Given the description of an element on the screen output the (x, y) to click on. 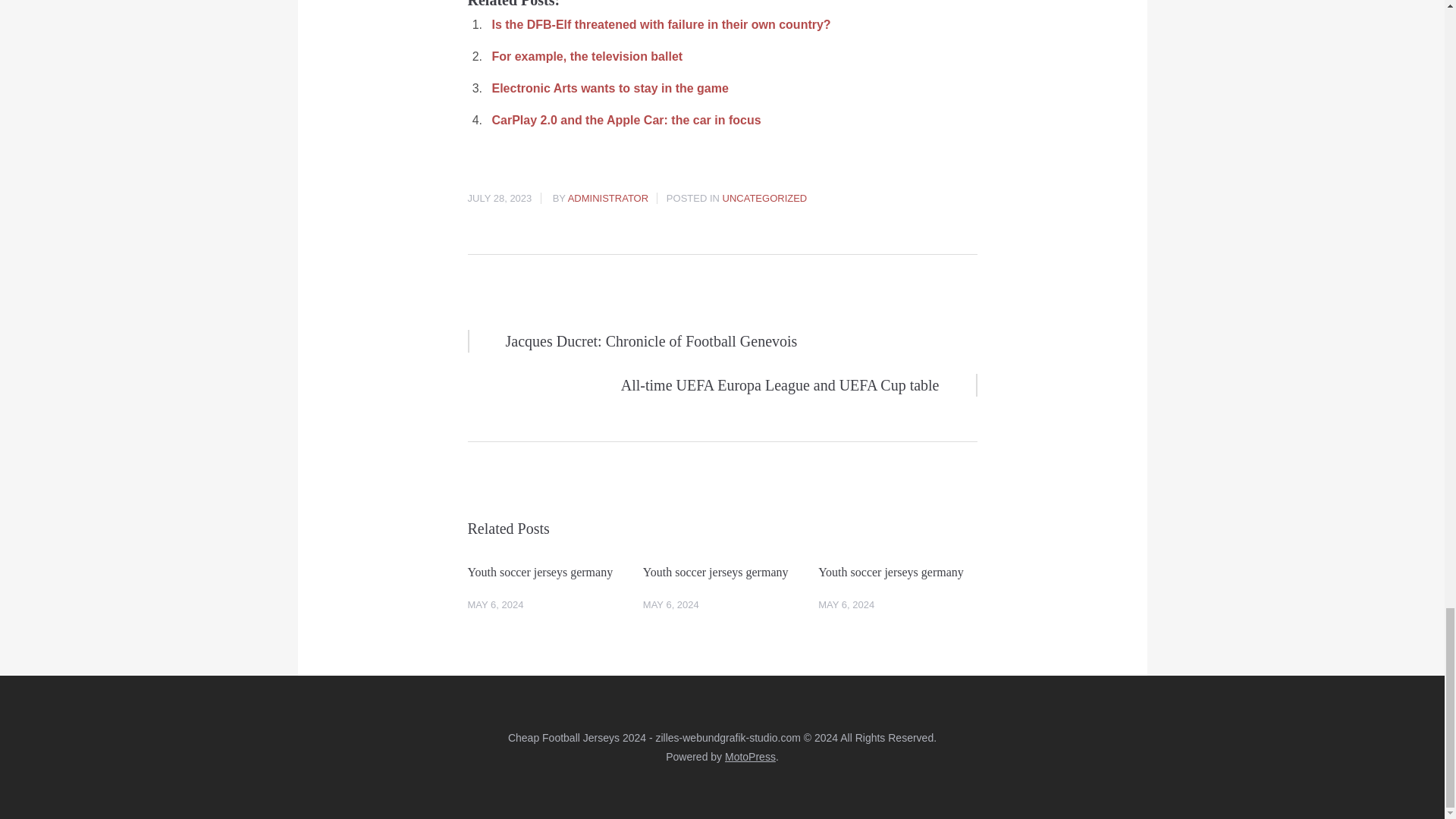
Youth soccer jerseys germany (722, 572)
Electronic Arts wants to stay in the game (610, 88)
MotoPress (750, 756)
Youth soccer jerseys germany (546, 572)
Electronic Arts wants to stay in the game (610, 88)
Youth soccer jerseys germany (546, 572)
Jacques Ducret: Chronicle of Football Genevois (740, 341)
All-time UEFA Europa League and UEFA Cup table (703, 384)
Youth soccer jerseys germany (897, 572)
For example, the television ballet (587, 56)
